Given the description of an element on the screen output the (x, y) to click on. 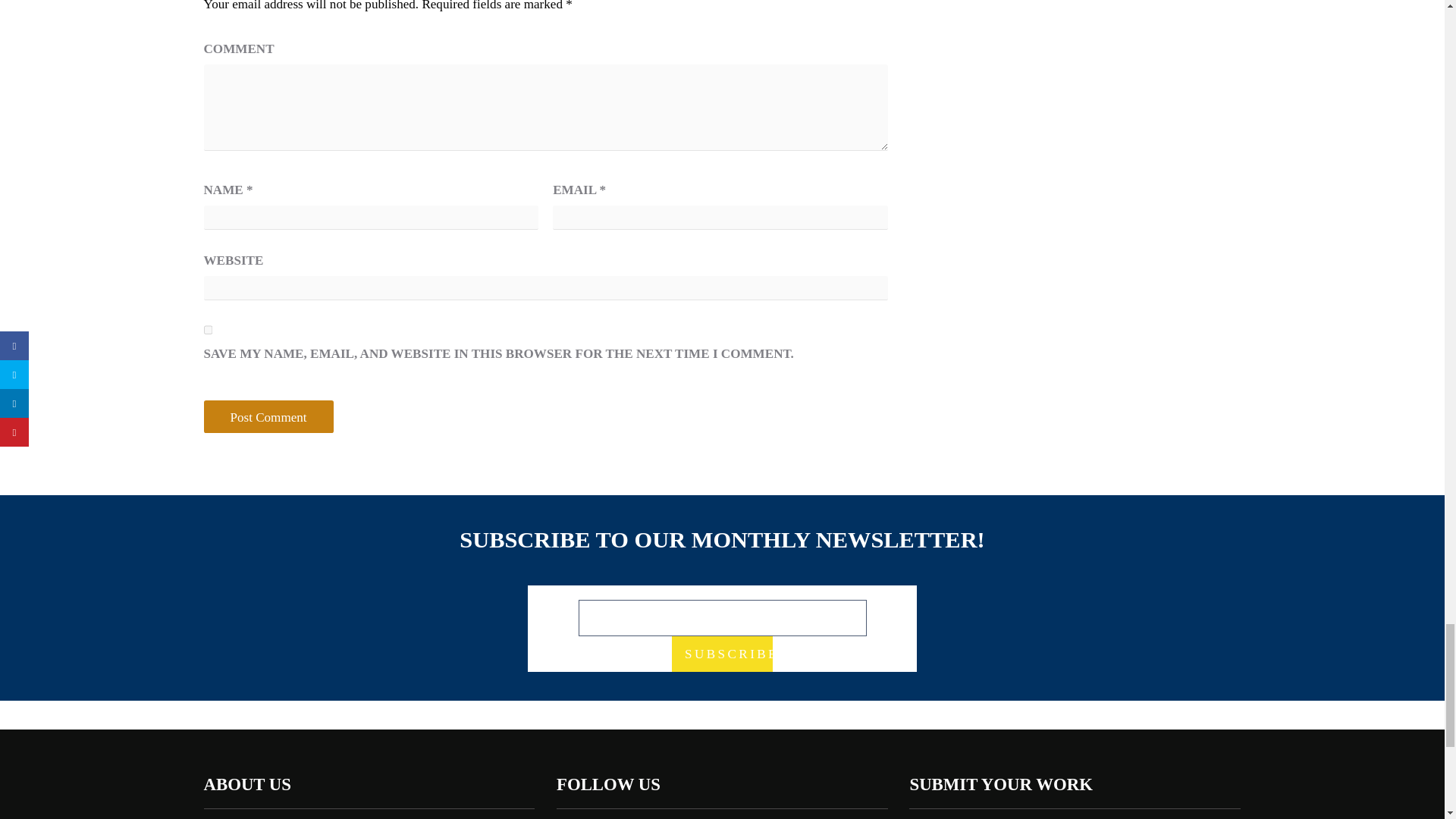
Post Comment (282, 653)
yes (219, 562)
